Given the description of an element on the screen output the (x, y) to click on. 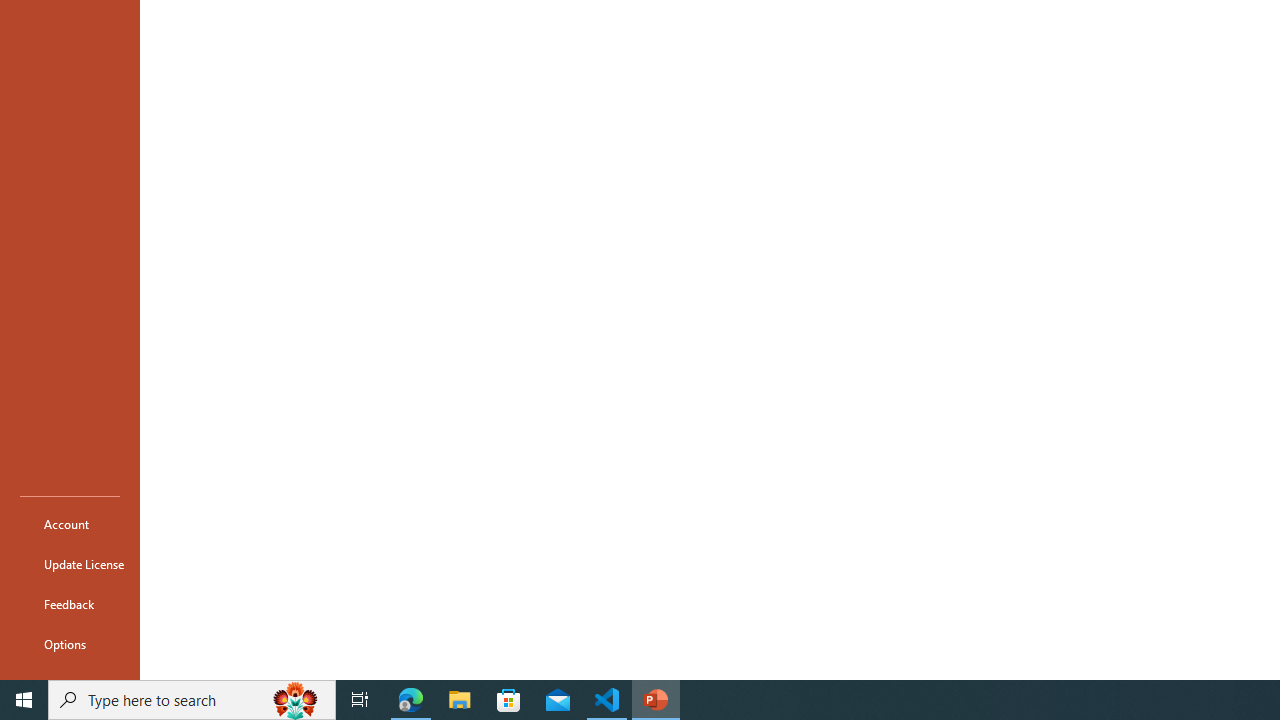
Update License (69, 563)
Account (69, 523)
Options (69, 643)
Feedback (69, 603)
